Given the description of an element on the screen output the (x, y) to click on. 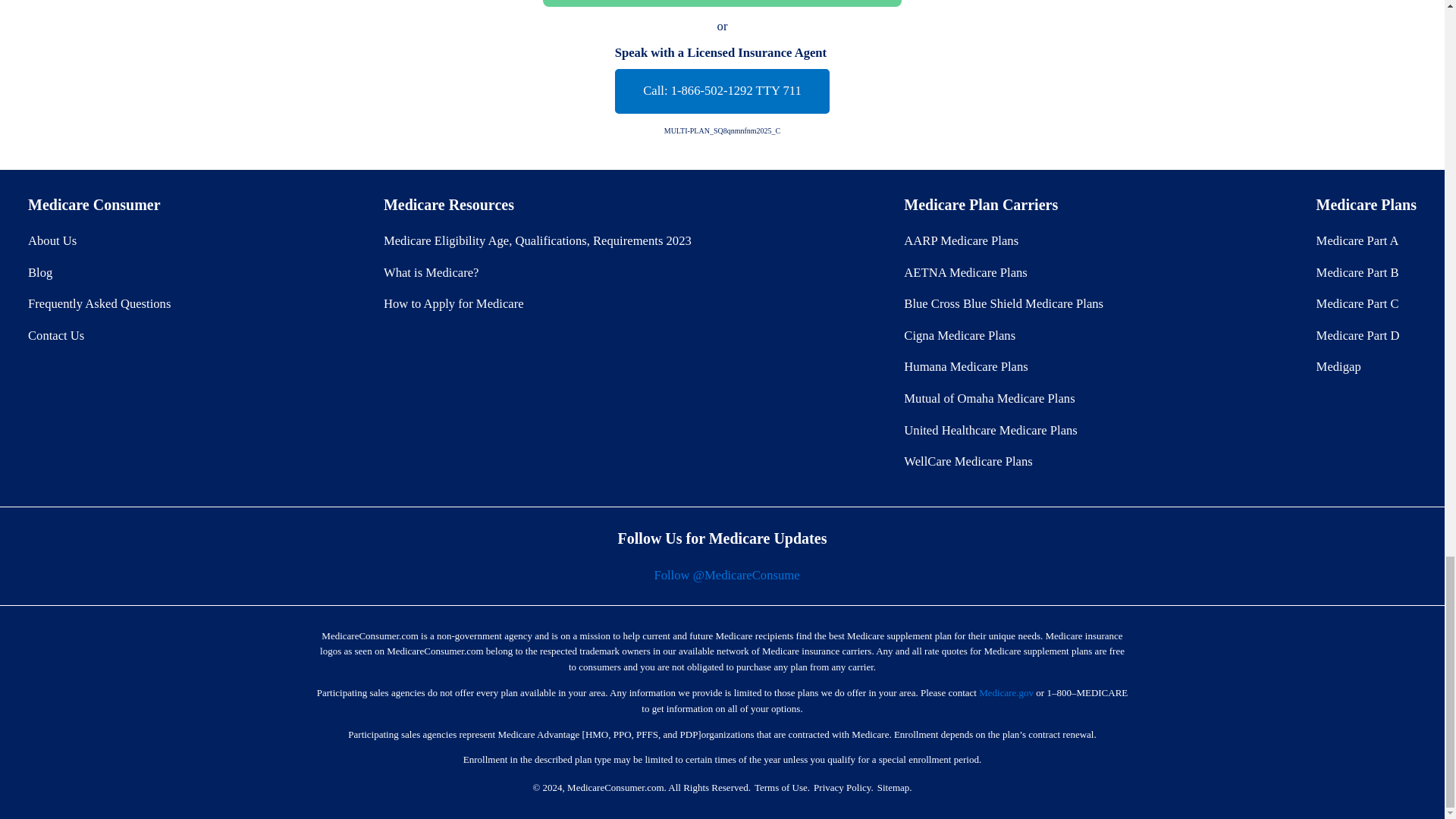
Call: 1-866-502-1292 TTY 711 (721, 90)
Start Now (722, 3)
Start Now (722, 3)
